Given the description of an element on the screen output the (x, y) to click on. 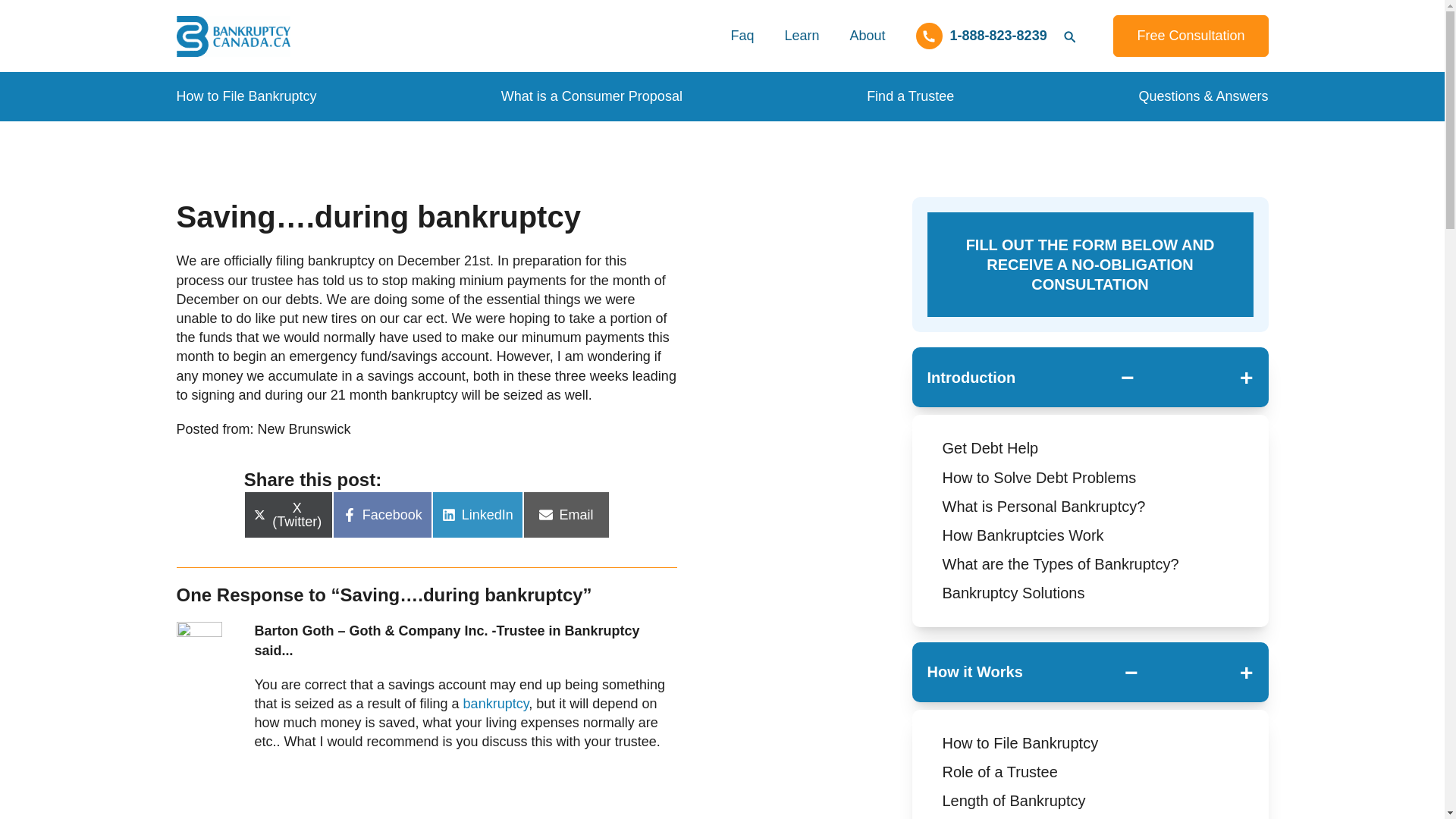
1-888-823-8239 (980, 35)
Learn (801, 35)
Faq (741, 35)
About (866, 35)
